Given the description of an element on the screen output the (x, y) to click on. 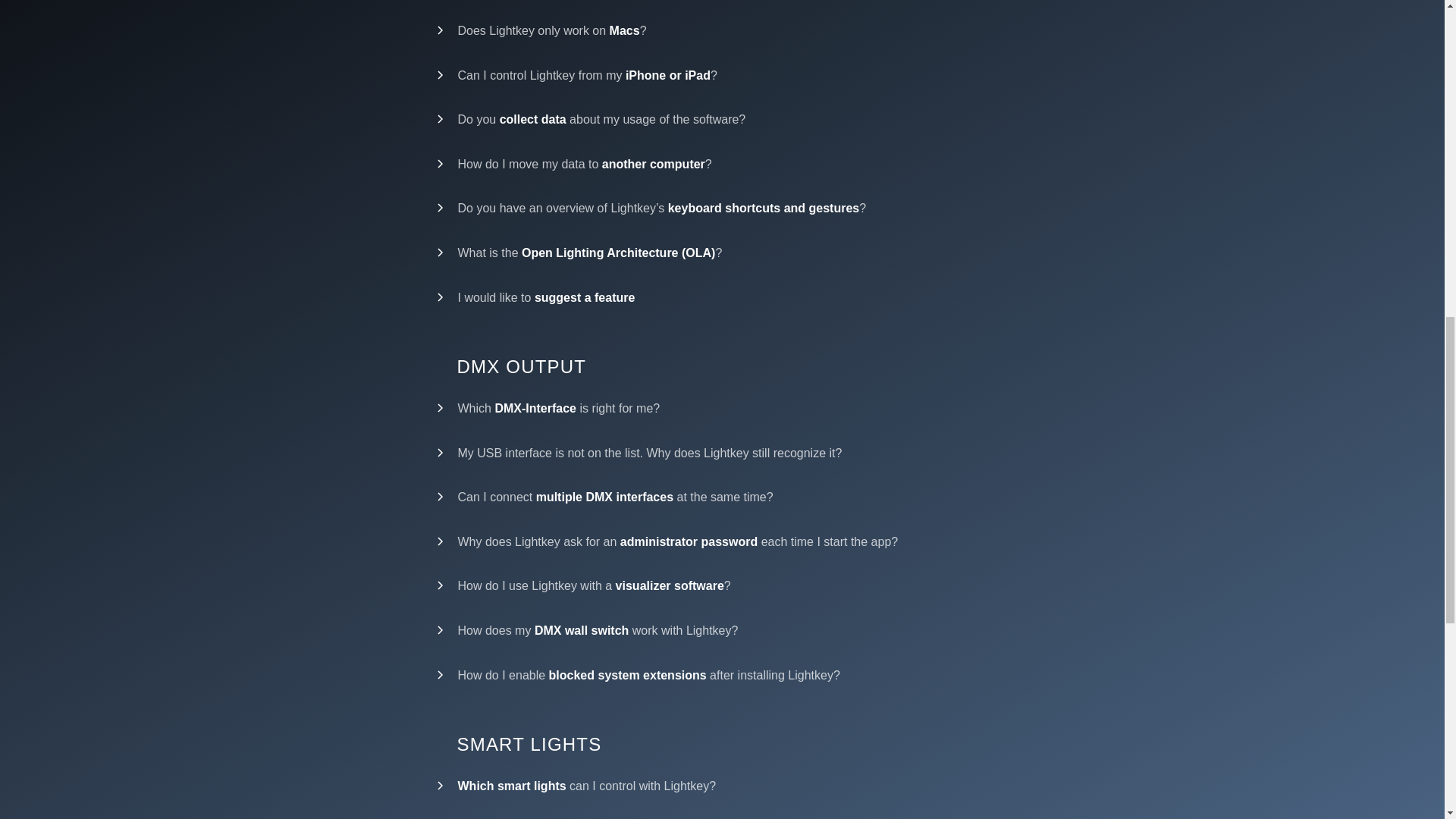
Does Lightkey only work on Macs? (722, 30)
Do you collect data about my usage of the software? (722, 119)
Can I control Lightkey from my iPhone or iPad? (722, 75)
Which Mac model or configuration do you recommend? (722, 3)
